Given the description of an element on the screen output the (x, y) to click on. 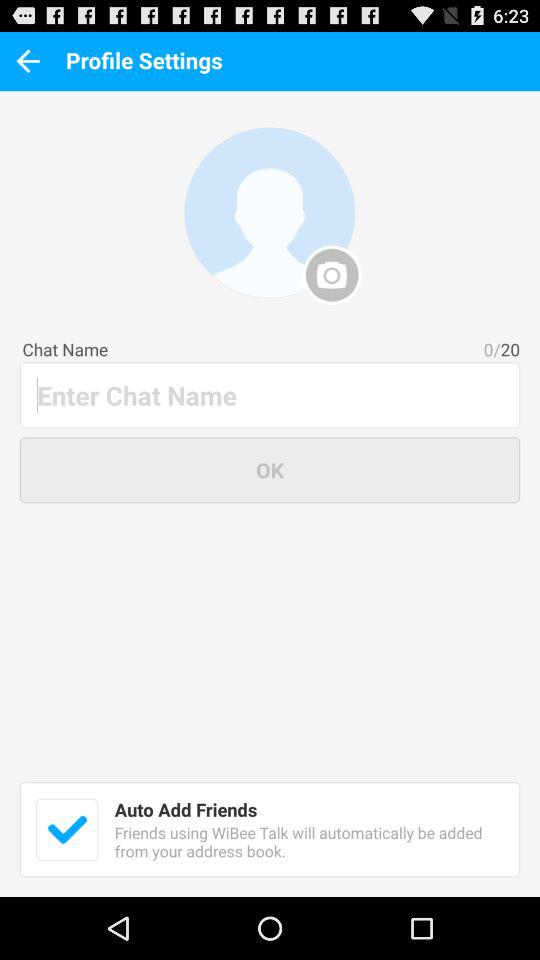
it is a name key (271, 394)
